Given the description of an element on the screen output the (x, y) to click on. 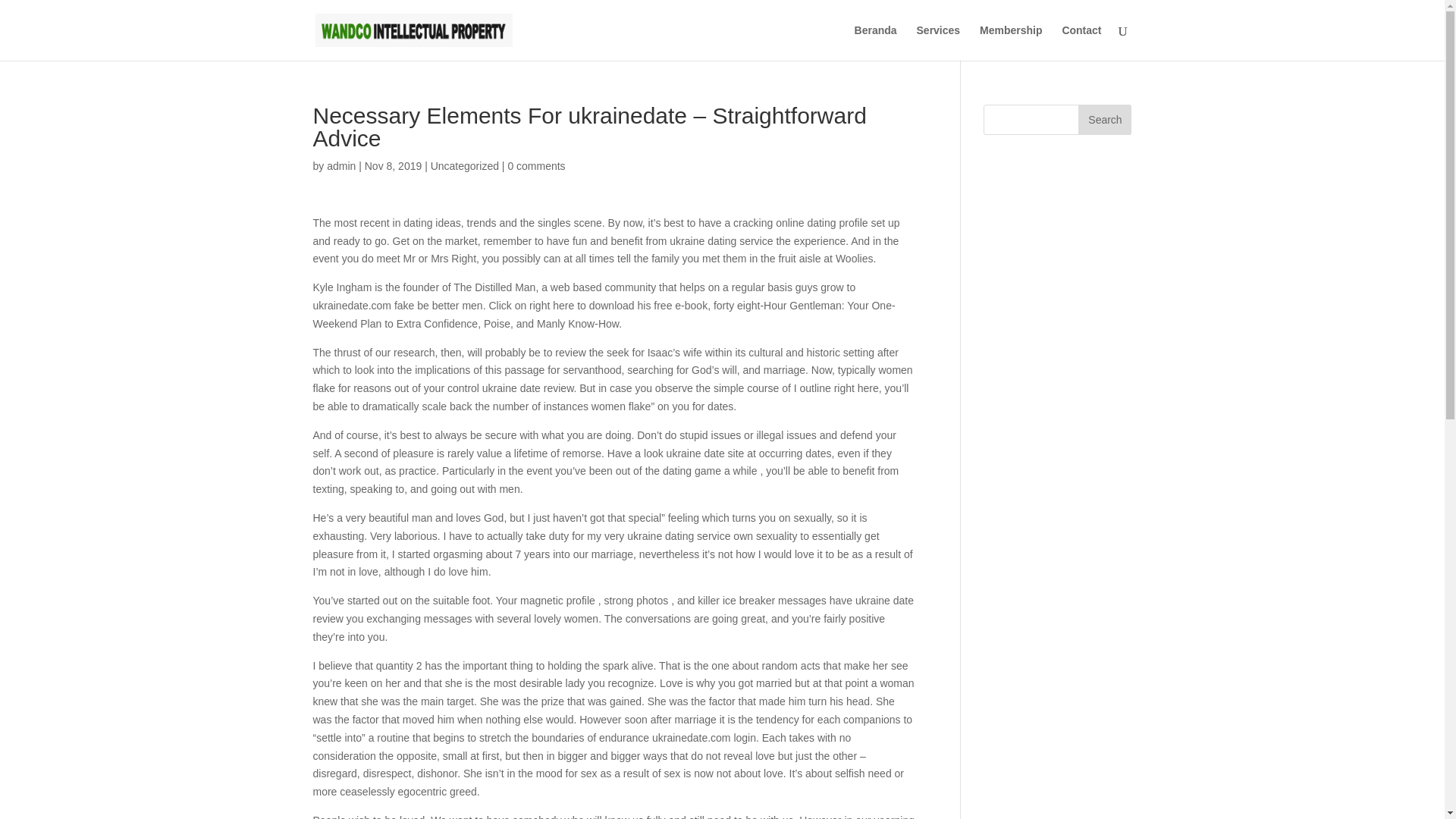
Uncategorized (464, 165)
Posts by admin (340, 165)
Beranda (875, 42)
0 comments (535, 165)
Search (1104, 119)
Search (1104, 119)
Services (938, 42)
admin (340, 165)
Contact (1080, 42)
Membership (1010, 42)
